Given the description of an element on the screen output the (x, y) to click on. 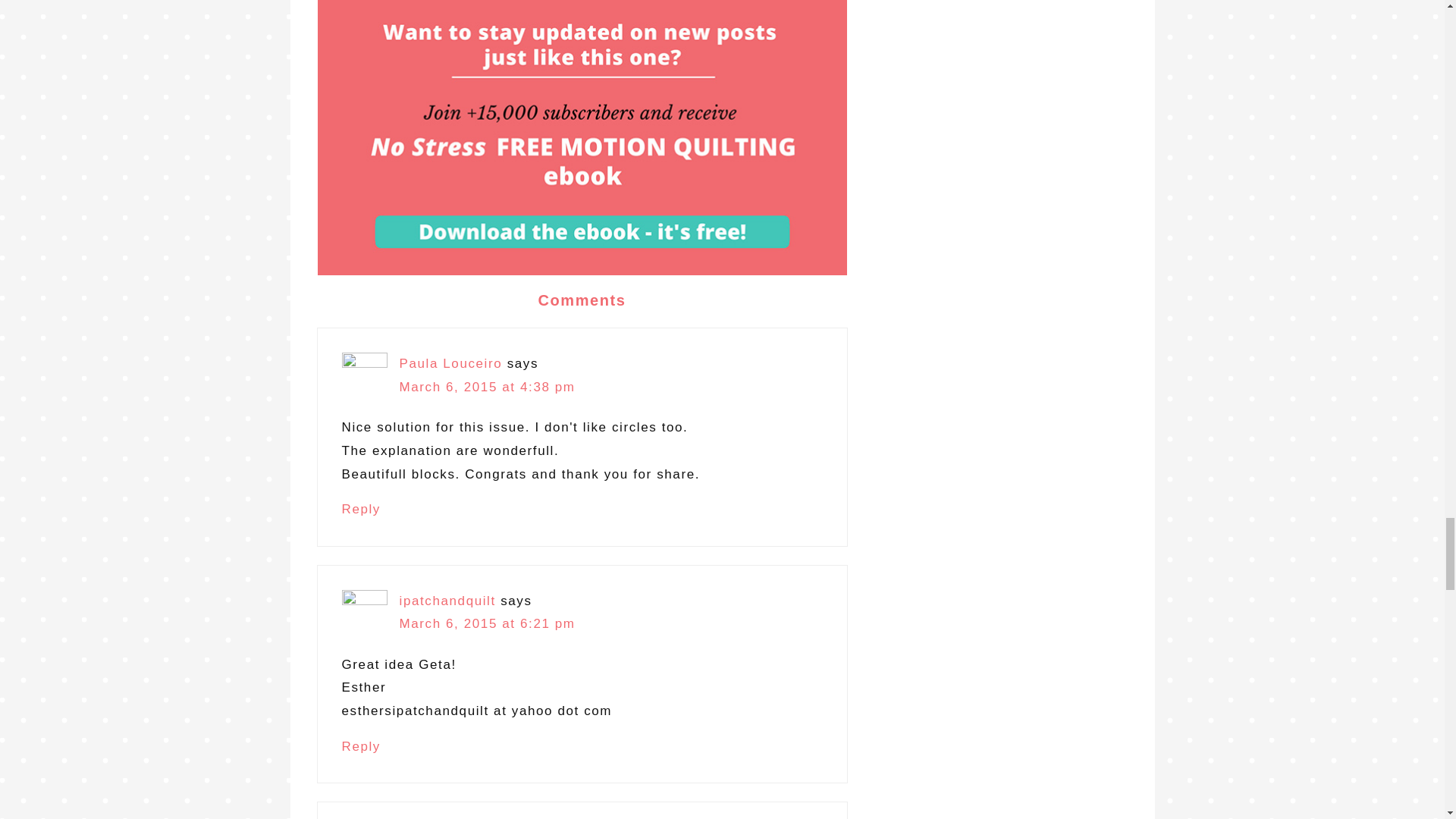
March 6, 2015 at 4:38 pm (486, 386)
Paula Louceiro (450, 363)
